Given the description of an element on the screen output the (x, y) to click on. 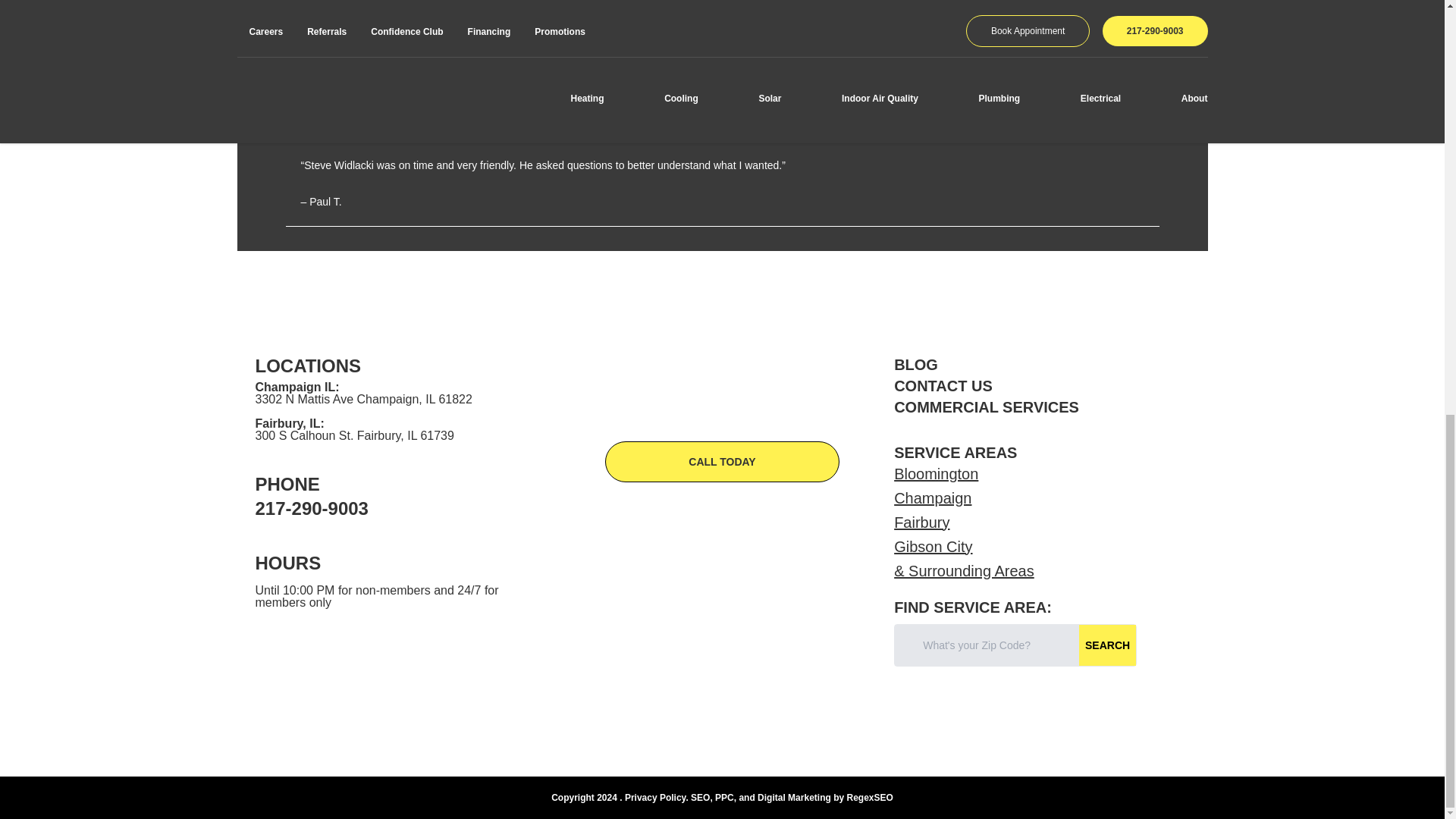
Search (1106, 644)
